Given the description of an element on the screen output the (x, y) to click on. 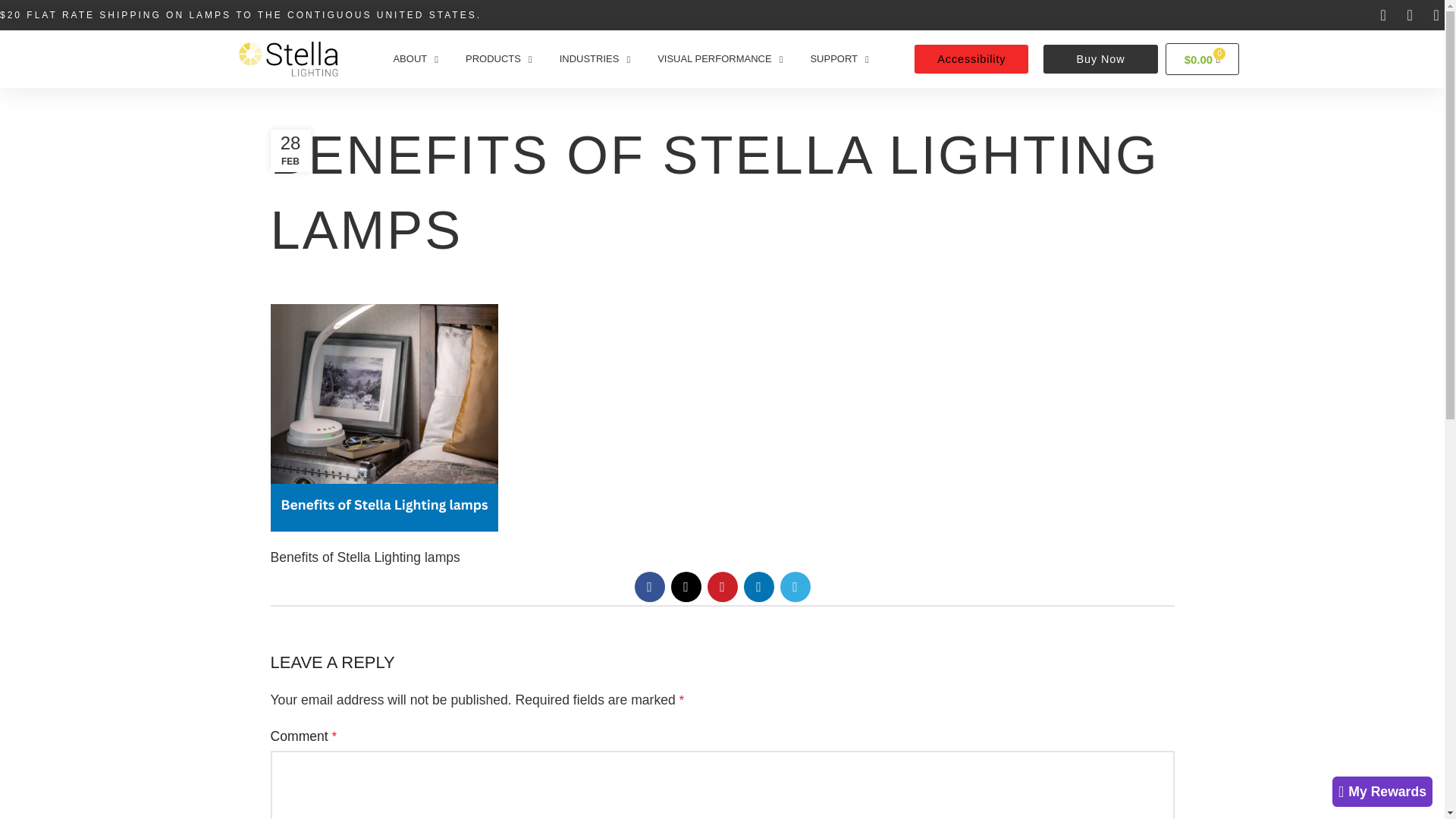
PRODUCTS (498, 58)
VISUAL PERFORMANCE (719, 58)
ABOUT (414, 58)
SUPPORT (839, 58)
INDUSTRIES (594, 58)
